Given the description of an element on the screen output the (x, y) to click on. 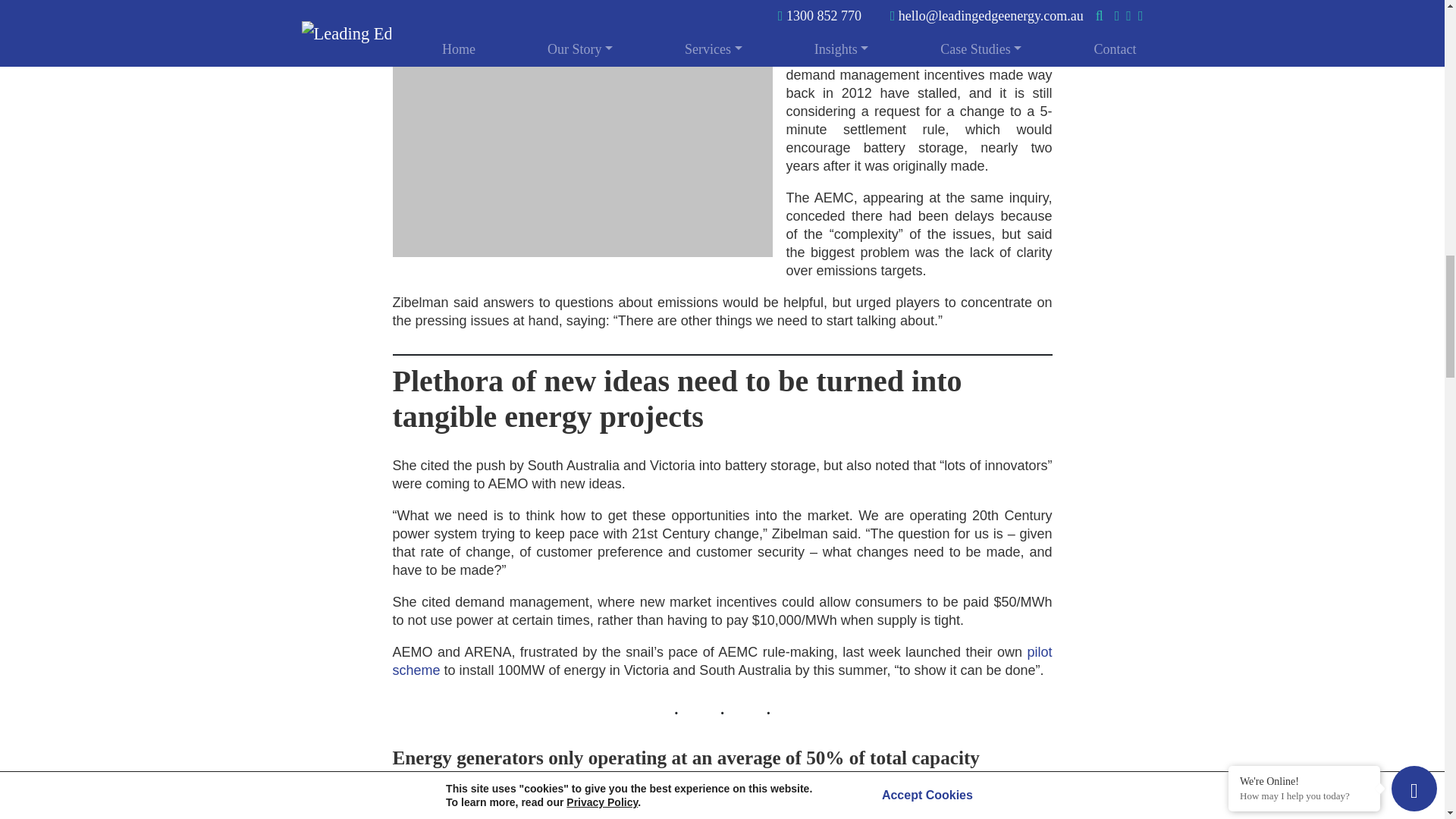
AEMC (835, 38)
